Given the description of an element on the screen output the (x, y) to click on. 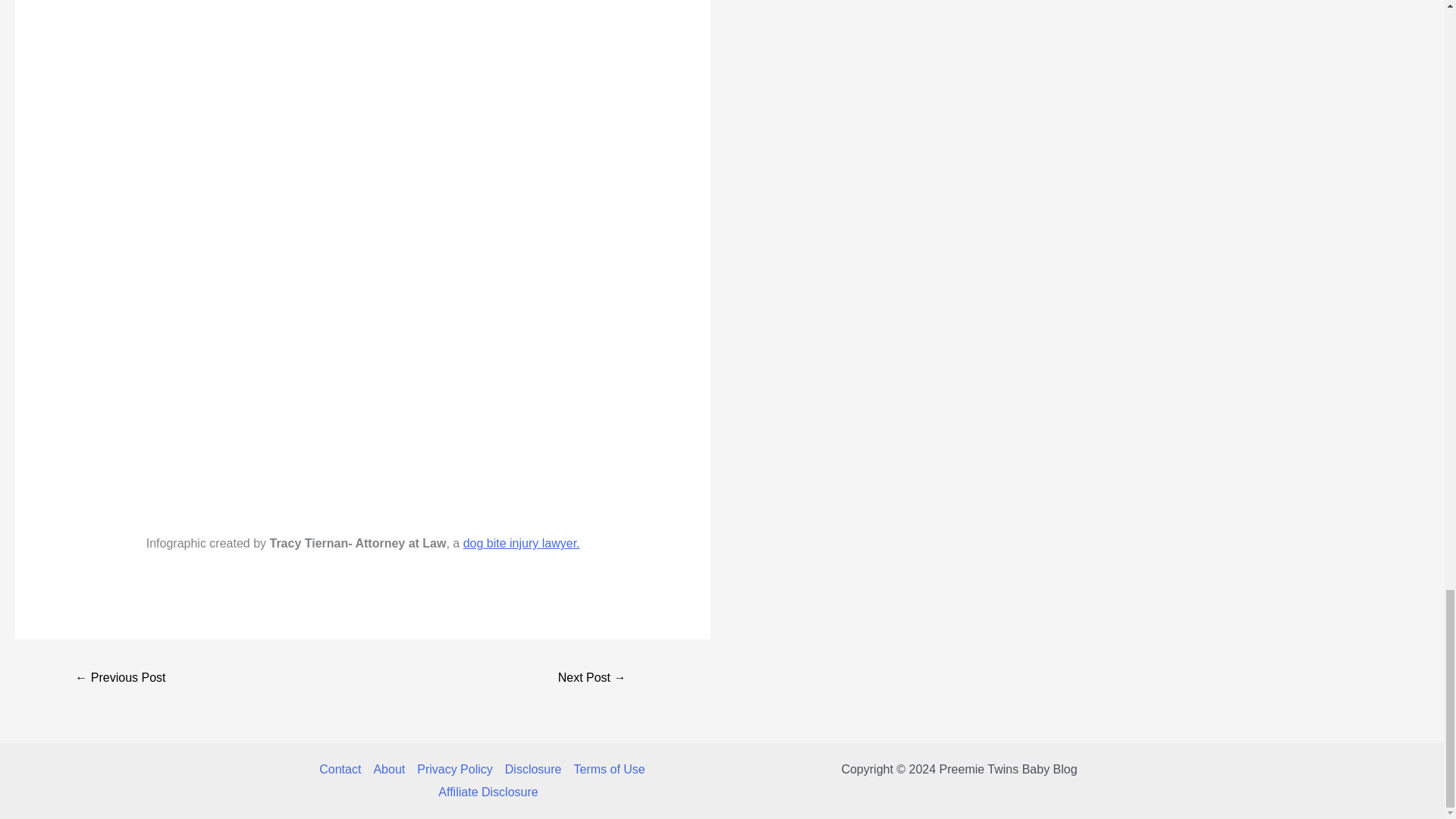
3 Tips For Creating The Perfect Nursery For Your Twins (119, 678)
Things You Need To Prepare When Expecting Twins (591, 678)
